Given the description of an element on the screen output the (x, y) to click on. 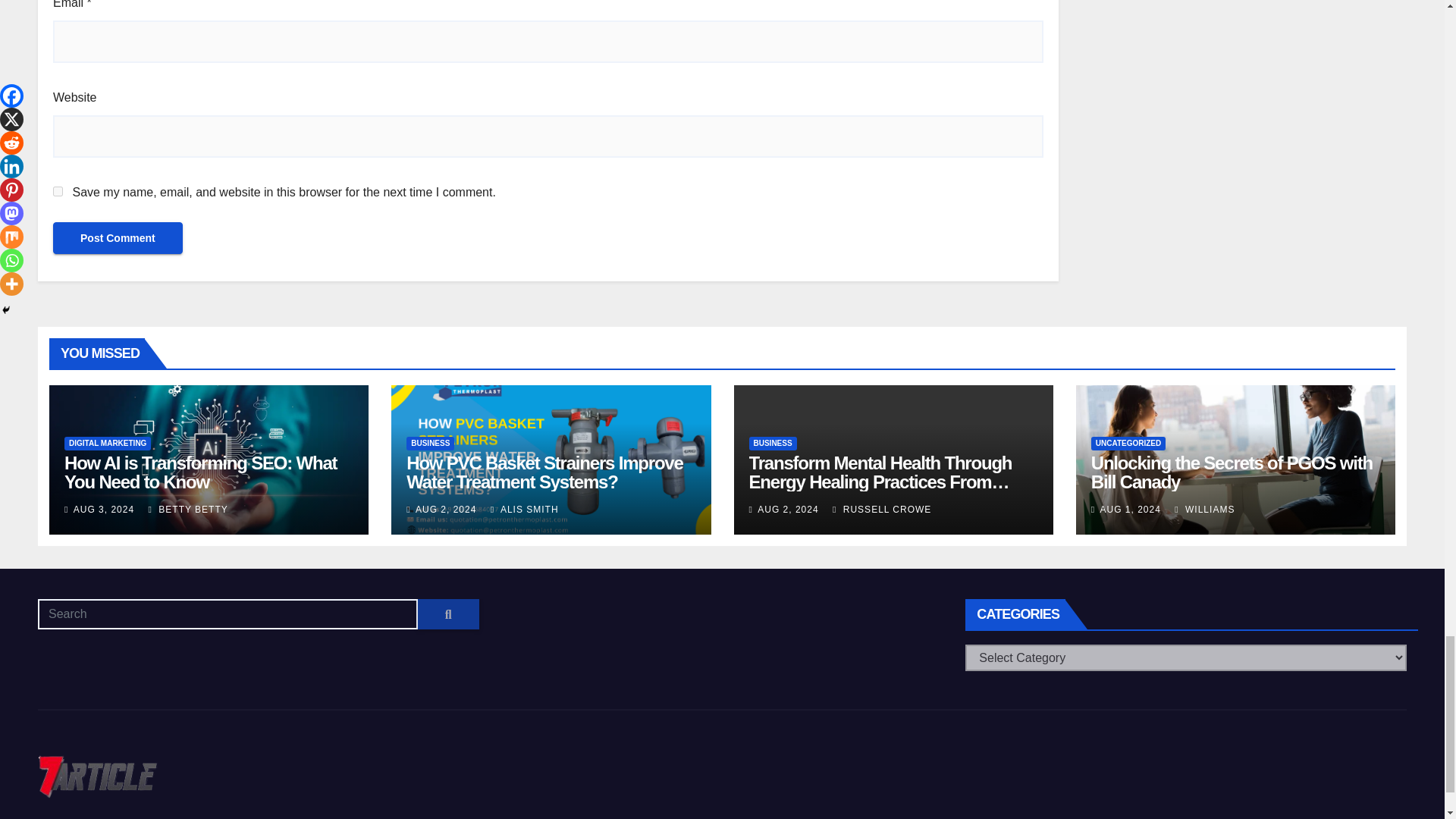
yes (57, 191)
Post Comment (117, 237)
